Given the description of an element on the screen output the (x, y) to click on. 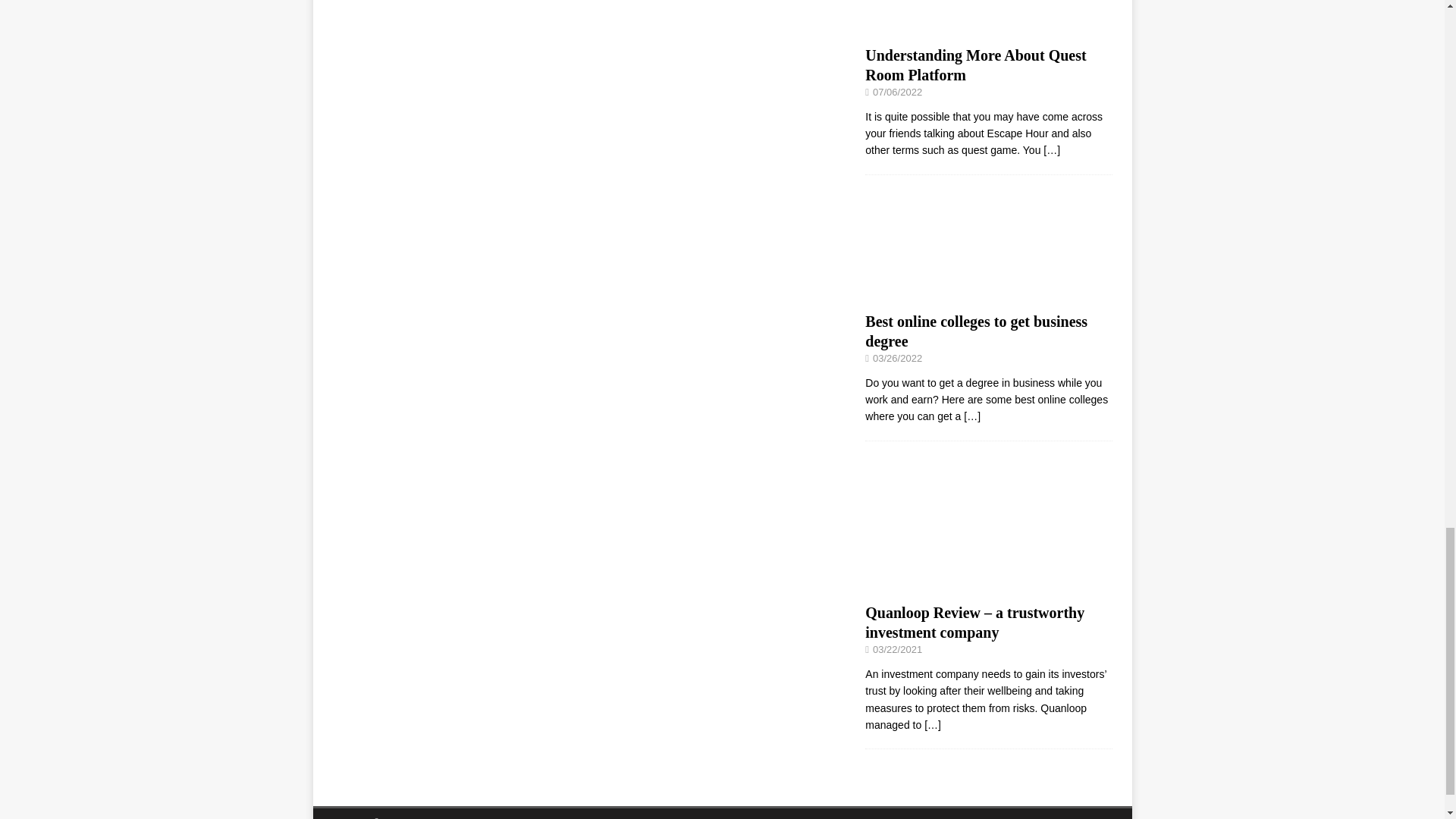
Understanding More About Quest Room Platform (975, 64)
Understanding More About Quest Room Platform (988, 28)
Best online colleges to get business degree (975, 330)
